Given the description of an element on the screen output the (x, y) to click on. 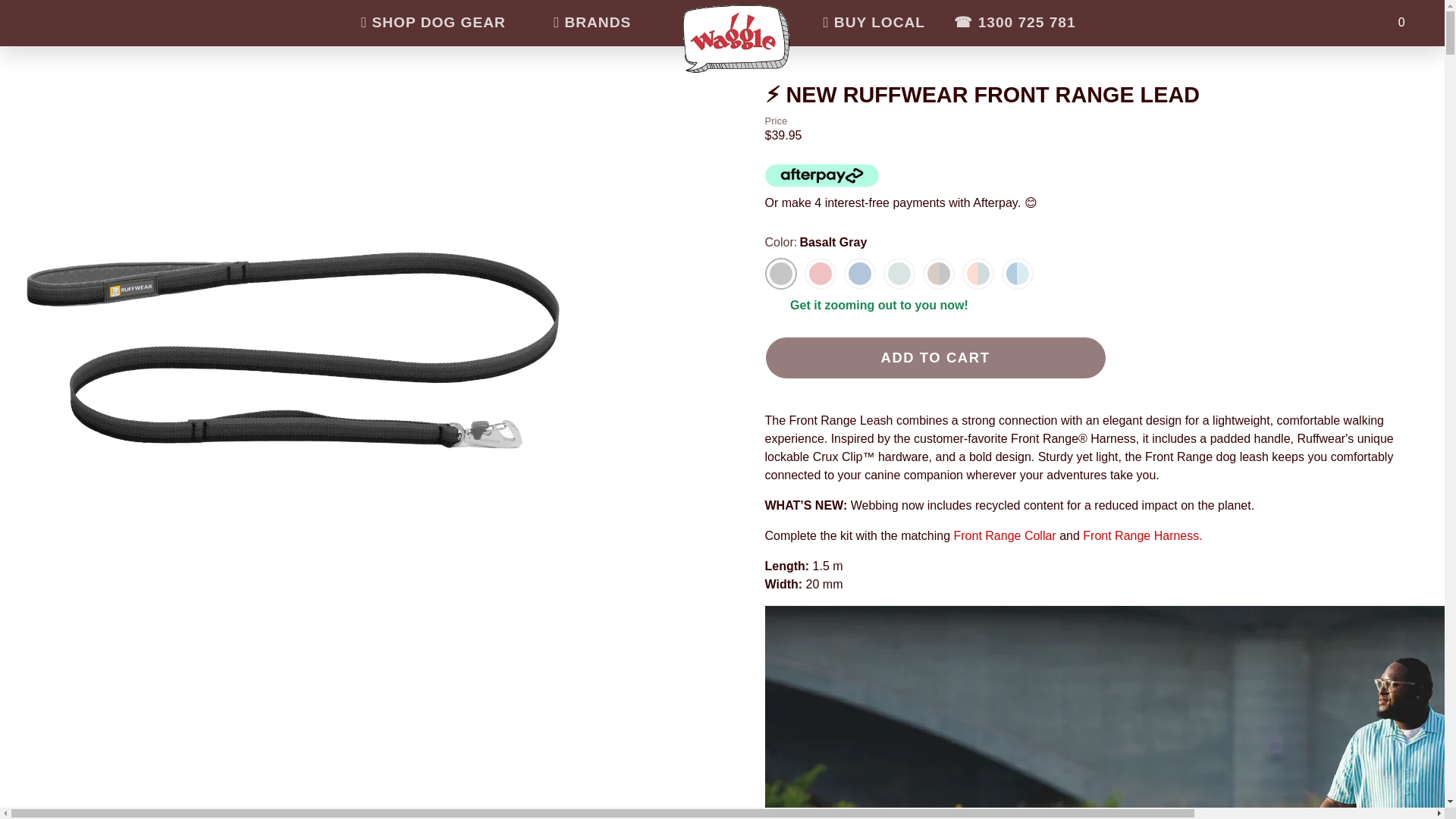
Shop dog collar (1005, 535)
Shop front range dog harness. (1110, 535)
Shop front range dog harness. (1172, 535)
